Given the description of an element on the screen output the (x, y) to click on. 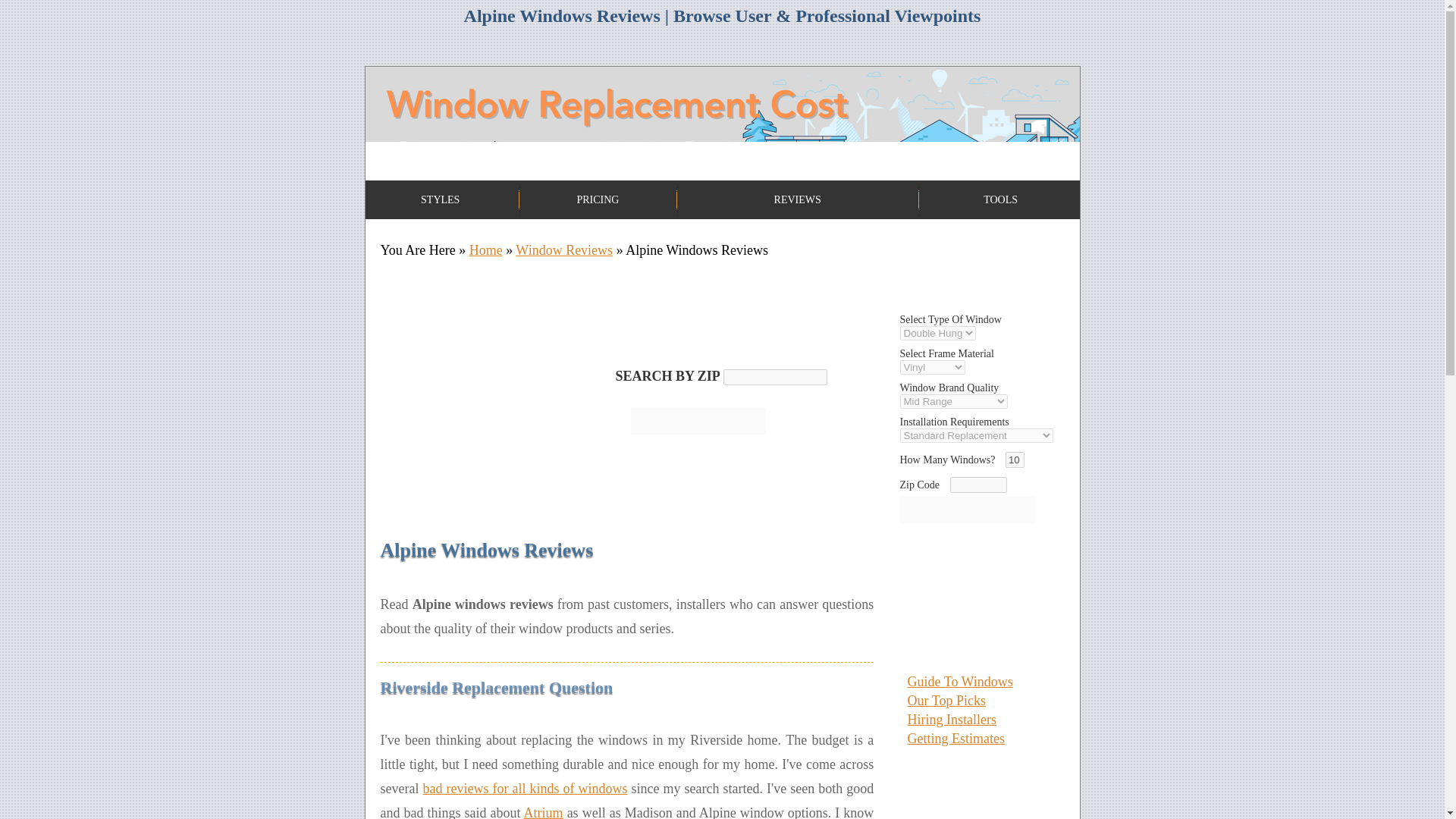
bad reviews for all kinds of windows (525, 788)
Search (697, 420)
PRICING (597, 199)
10 (1015, 459)
Atrium (543, 812)
Guide To Windows (959, 681)
Getting Estimates (955, 738)
REVIEWS (797, 199)
Our Top Picks (946, 700)
Home (485, 249)
Search (697, 420)
STYLES (440, 199)
TOOLS (1000, 199)
Hiring Installers (951, 719)
Window Reviews (563, 249)
